Given the description of an element on the screen output the (x, y) to click on. 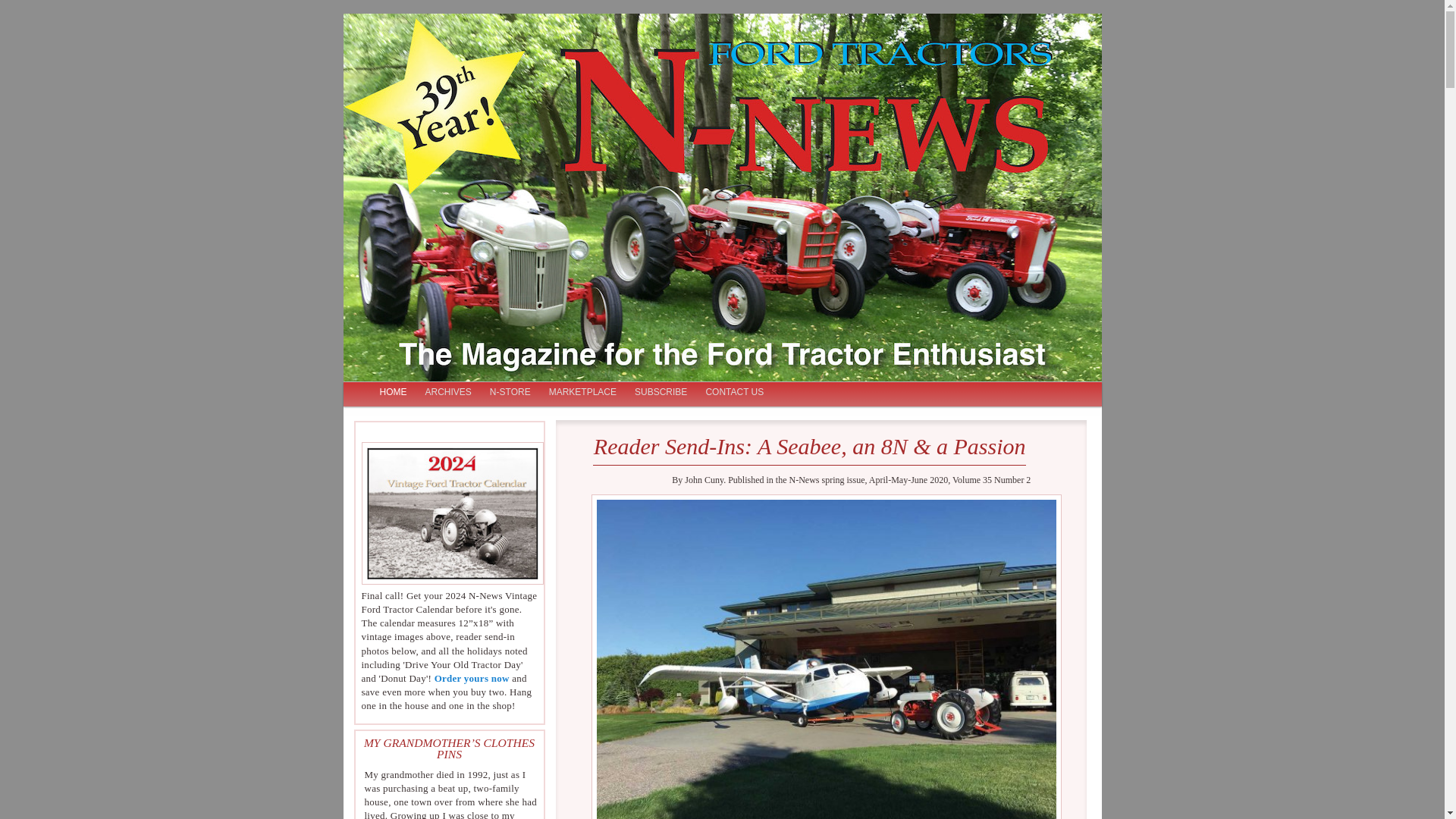
CONTACT US (734, 392)
SUBSCRIBE (660, 392)
SKIP TO PRIMARY CONTENT (441, 392)
N-News (407, 78)
MARKETPLACE (583, 392)
SKIP TO SECONDARY CONTENT (449, 392)
N-STORE (510, 392)
ARCHIVES (447, 392)
HOME (391, 392)
